Given the description of an element on the screen output the (x, y) to click on. 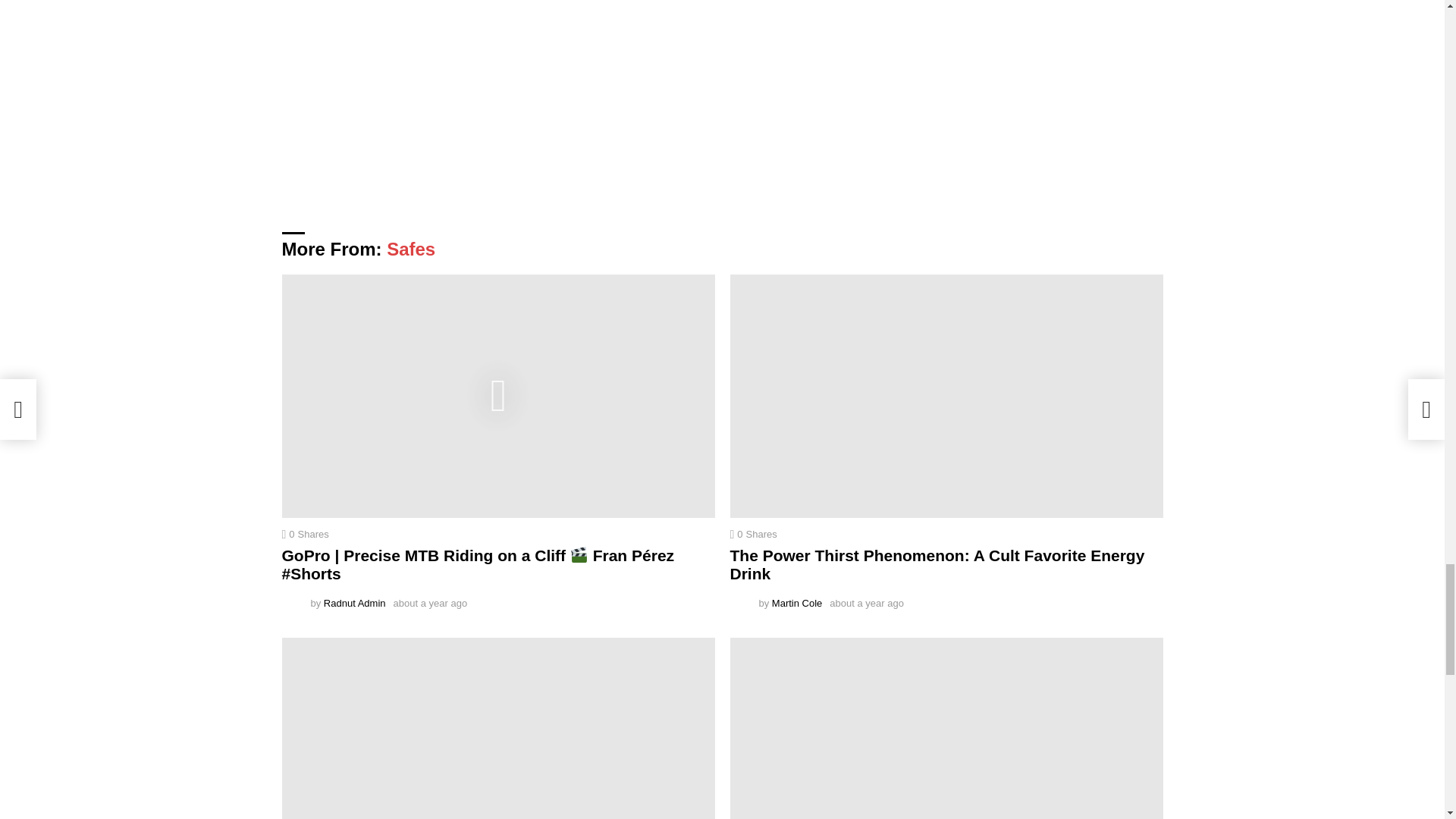
July 19, 2023, 6:34 am (430, 603)
The Power Thirst Phenomenon: A Cult Favorite Energy Drink (945, 396)
July 18, 2023, 8:22 pm (866, 603)
Posts by Radnut Admin (354, 603)
Posts by Martin Cole (796, 603)
